Given the description of an element on the screen output the (x, y) to click on. 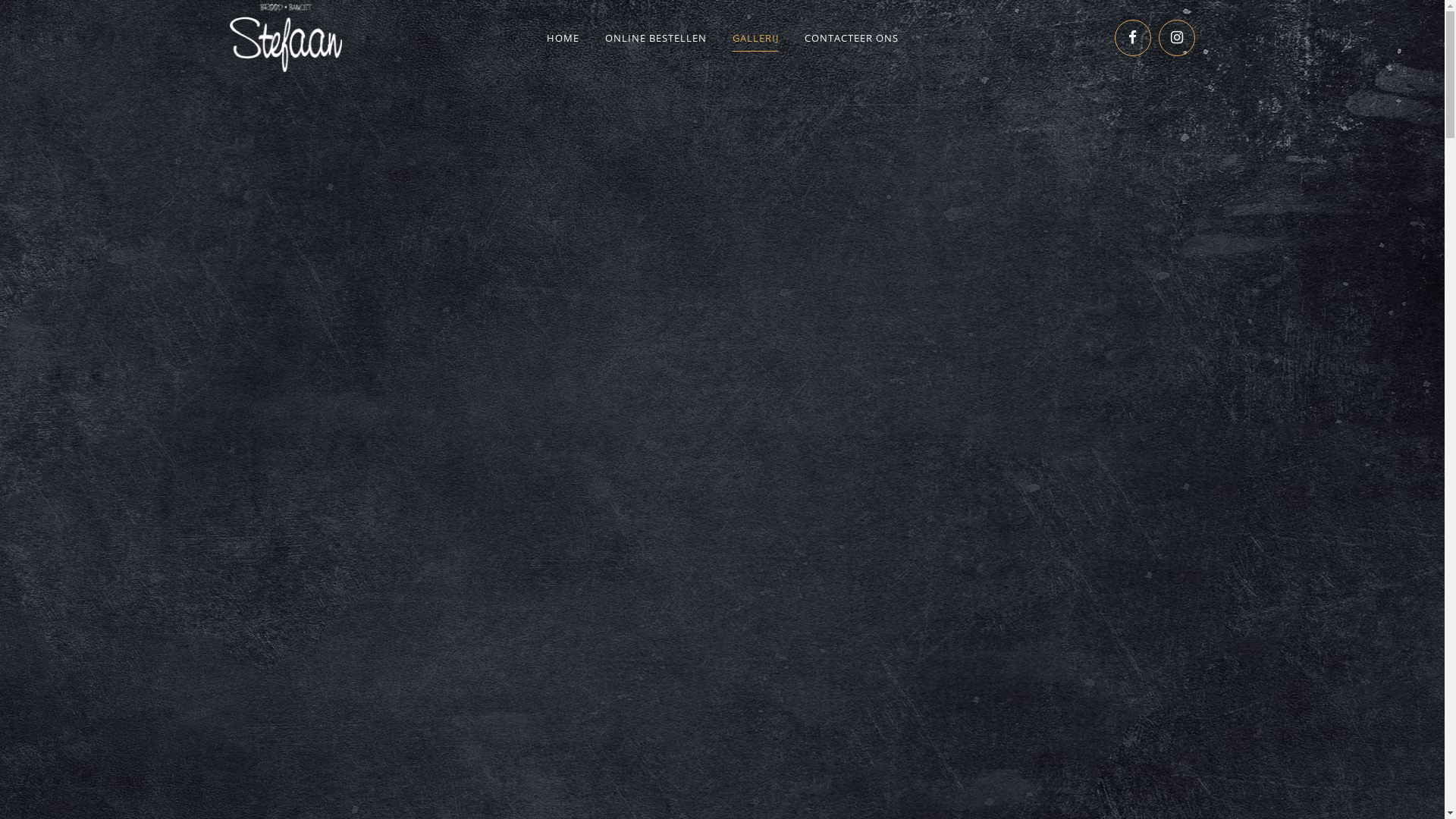
HOME Element type: text (562, 37)
GALLERIJ Element type: text (754, 37)
CONTACTEER ONS Element type: text (851, 37)
ONLINE BESTELLEN Element type: text (654, 37)
